Given the description of an element on the screen output the (x, y) to click on. 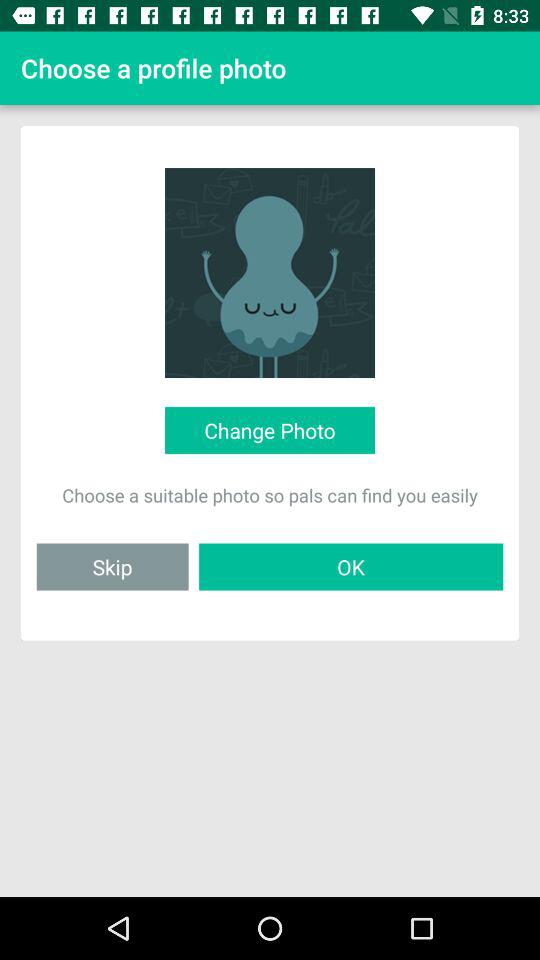
turn on the item next to skip (351, 566)
